Given the description of an element on the screen output the (x, y) to click on. 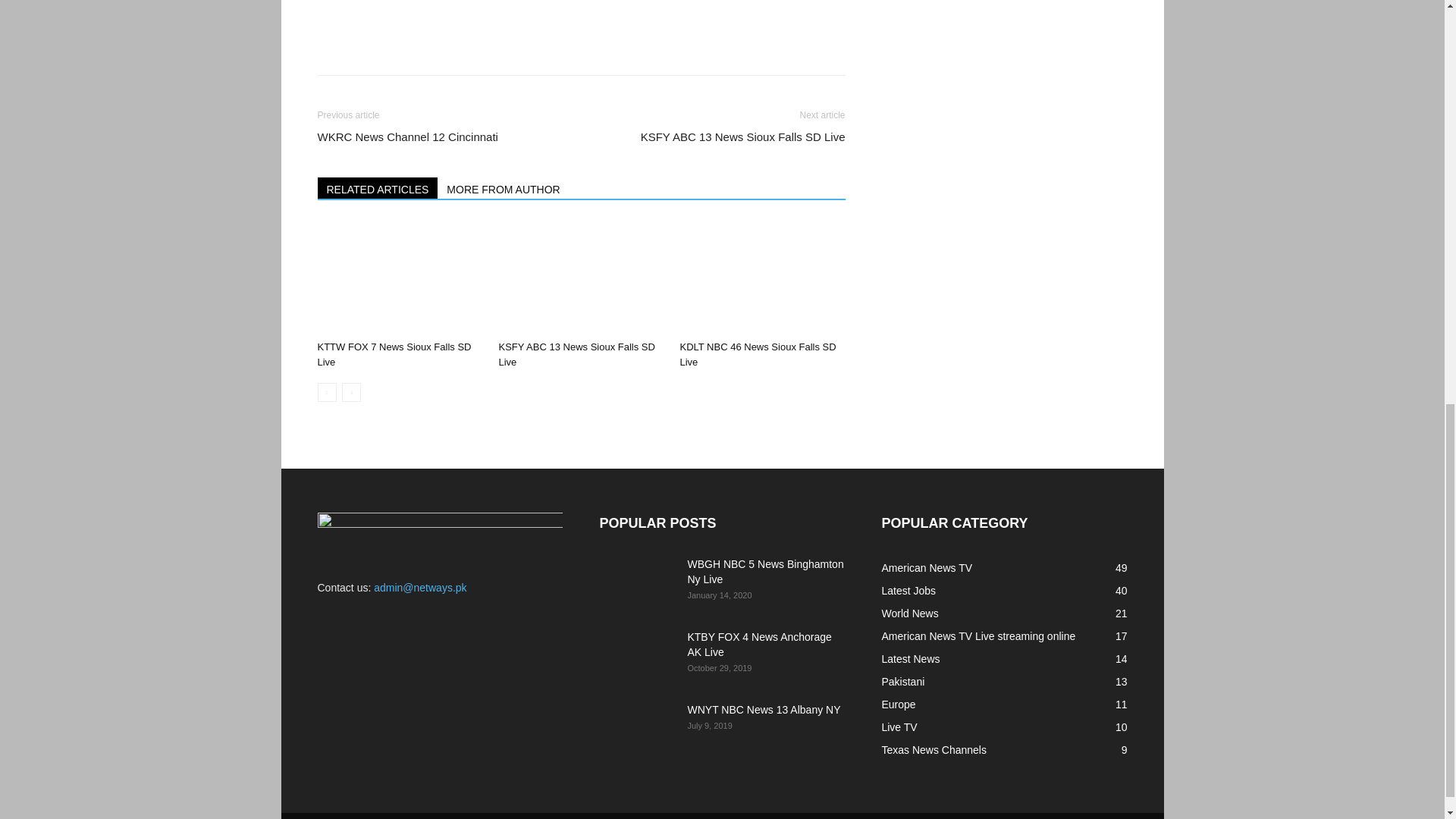
KSFY ABC 13 News Sioux Falls SD Live (742, 136)
RELATED ARTICLES (377, 188)
KTTW FOX 7 News Sioux Falls SD Live (393, 354)
bottomFacebookLike (430, 10)
WKRC News Channel 12 Cincinnati (407, 136)
MORE FROM AUTHOR (503, 188)
